Given the description of an element on the screen output the (x, y) to click on. 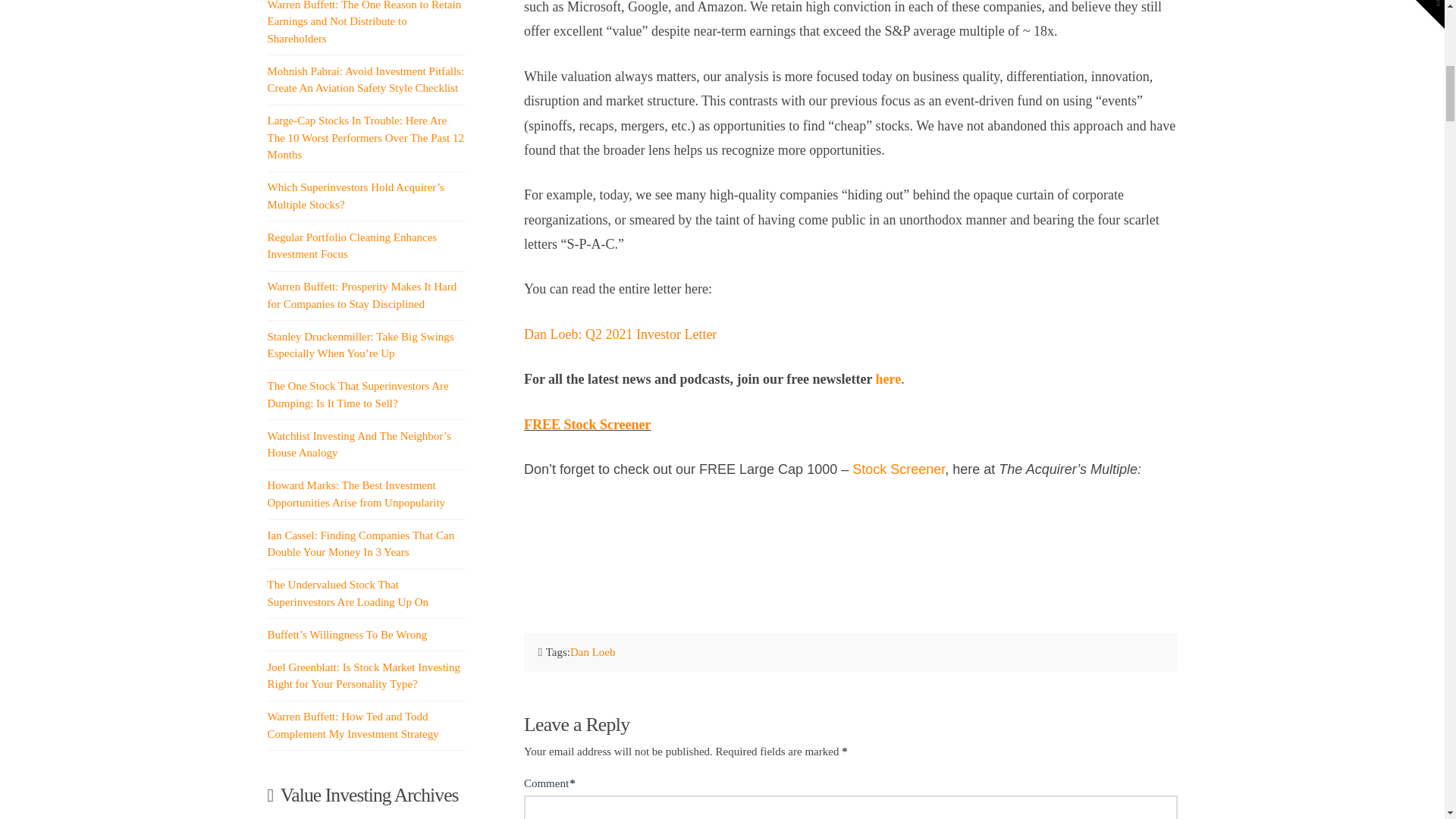
Dan Loeb (592, 652)
Stock Screener (897, 468)
here (888, 378)
FREE Stock Screener (587, 424)
Dan Loeb: Q2 2021 Investor Letter (620, 334)
